Given the description of an element on the screen output the (x, y) to click on. 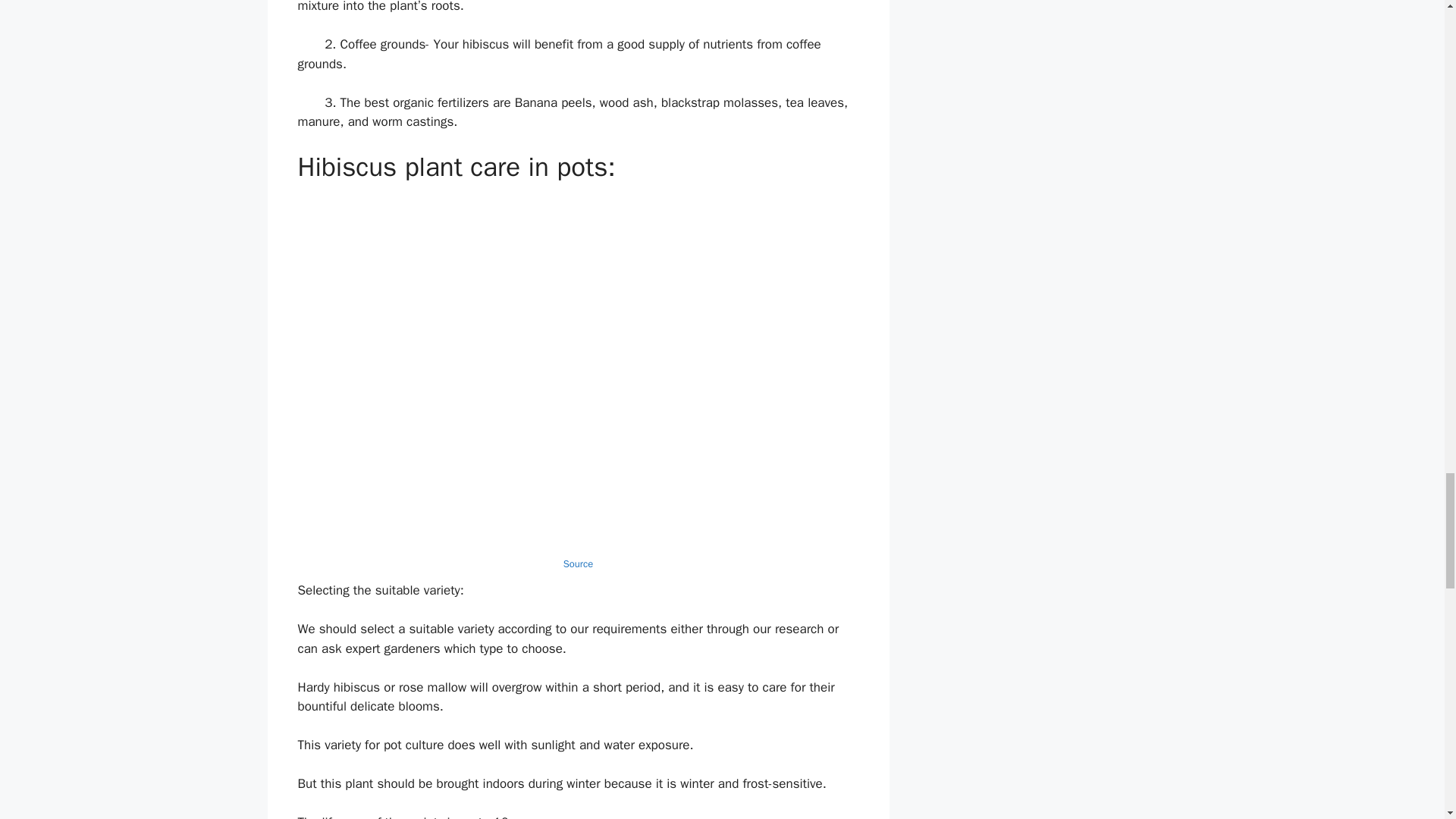
Source (577, 562)
